Given the description of an element on the screen output the (x, y) to click on. 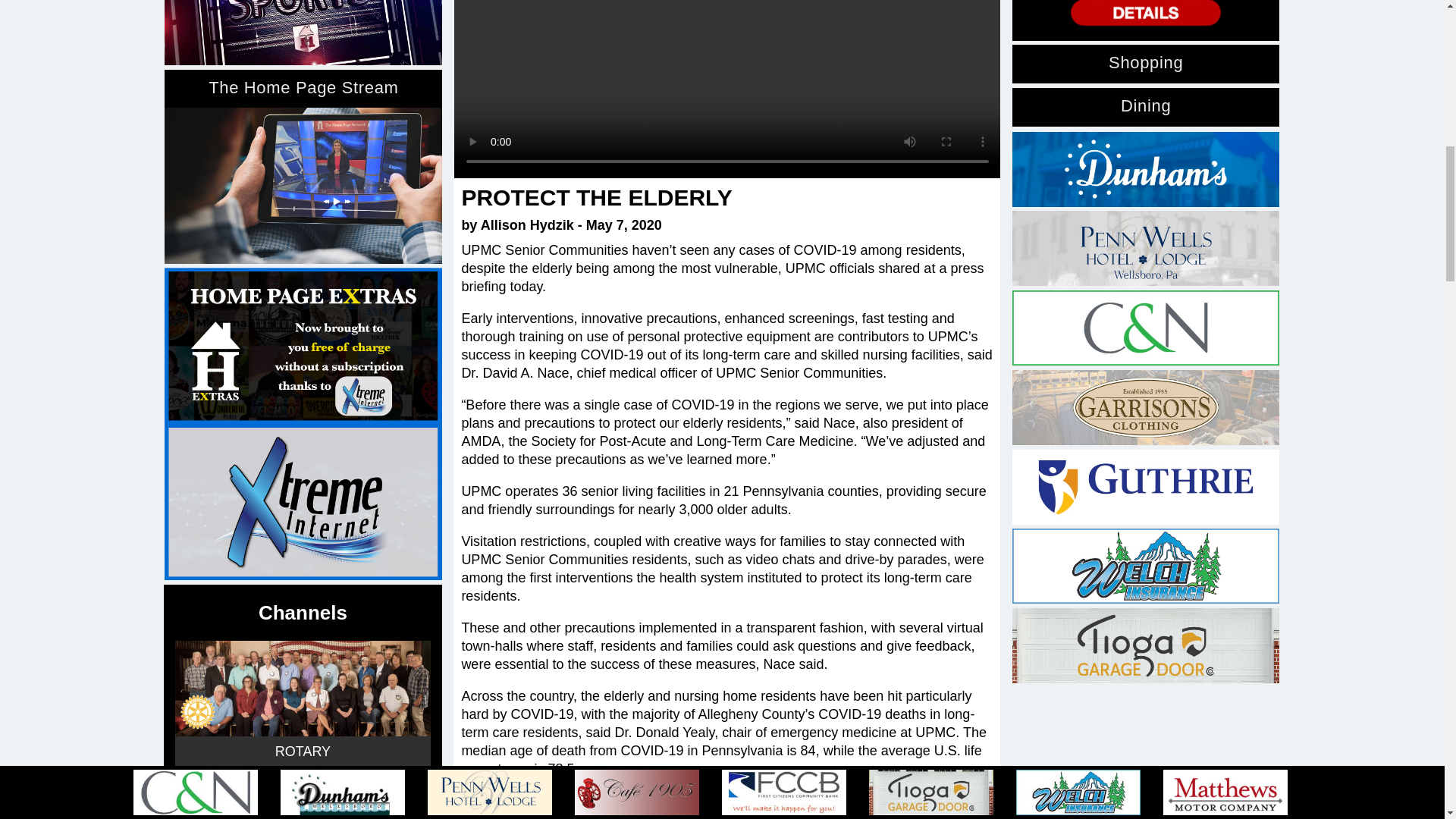
Rotary Conference (301, 801)
Home Page Sports (303, 32)
Rotary (301, 688)
The Home Page Stream (303, 185)
